Given the description of an element on the screen output the (x, y) to click on. 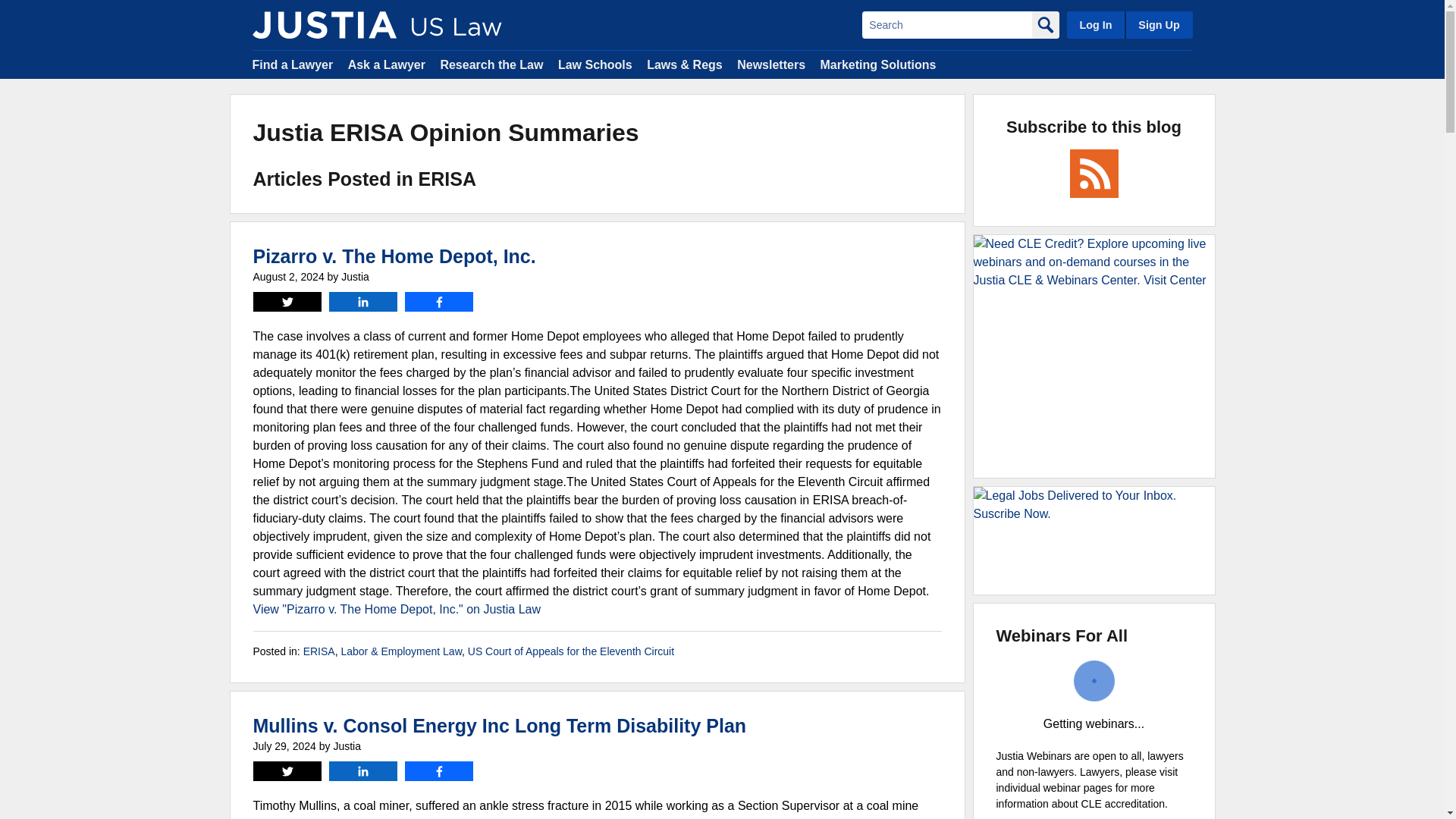
Search (945, 24)
Find a Lawyer (292, 64)
View "Pizarro v. The Home Depot, Inc." on Justia Law (397, 608)
Sign Up (1158, 24)
Log In (1094, 24)
Research the Law (491, 64)
Permalink to Pizarro v. The Home Depot, Inc. (394, 255)
Law Schools (594, 64)
